Given the description of an element on the screen output the (x, y) to click on. 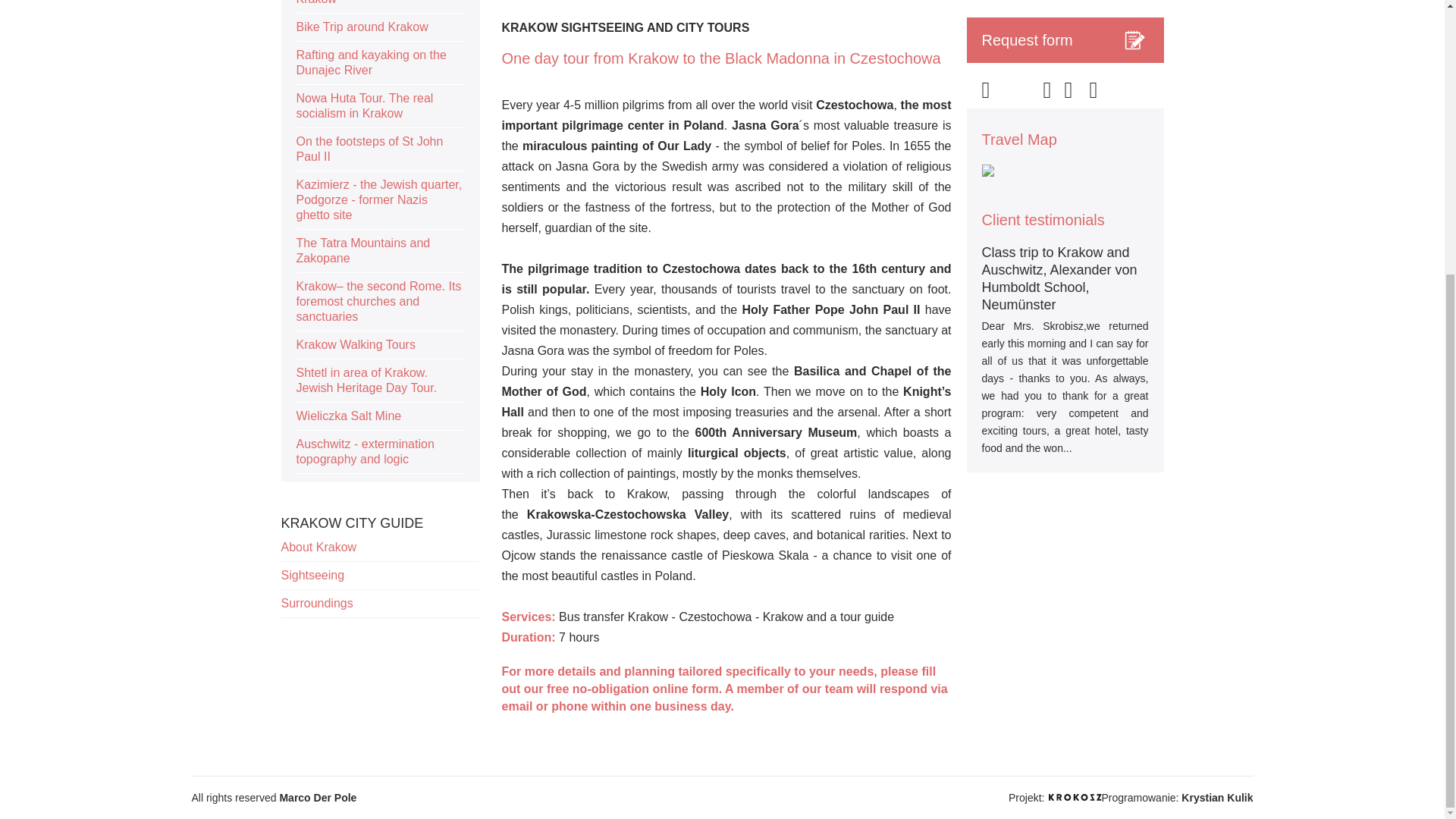
Bike Trip around Krakow (379, 27)
On the footsteps of St John Paul II (379, 149)
Krakow Walking Tours (379, 345)
Surroundings (380, 603)
On the footsteps of St John Paul II (379, 149)
Shtetl in area of Krakow. Jewish Heritage Day Tour. (379, 380)
The Tatra Mountains and Zakopane (379, 251)
The Tatra Mountains and Zakopane (379, 251)
Auschwitz - extermination topography and logic (379, 452)
About Krakow (380, 547)
Nowa Huta Tour. The real socialism in Krakow (379, 106)
Krakow Walking Tours (379, 345)
Rafting and kayaking on the Dunajec River (379, 63)
